Given the description of an element on the screen output the (x, y) to click on. 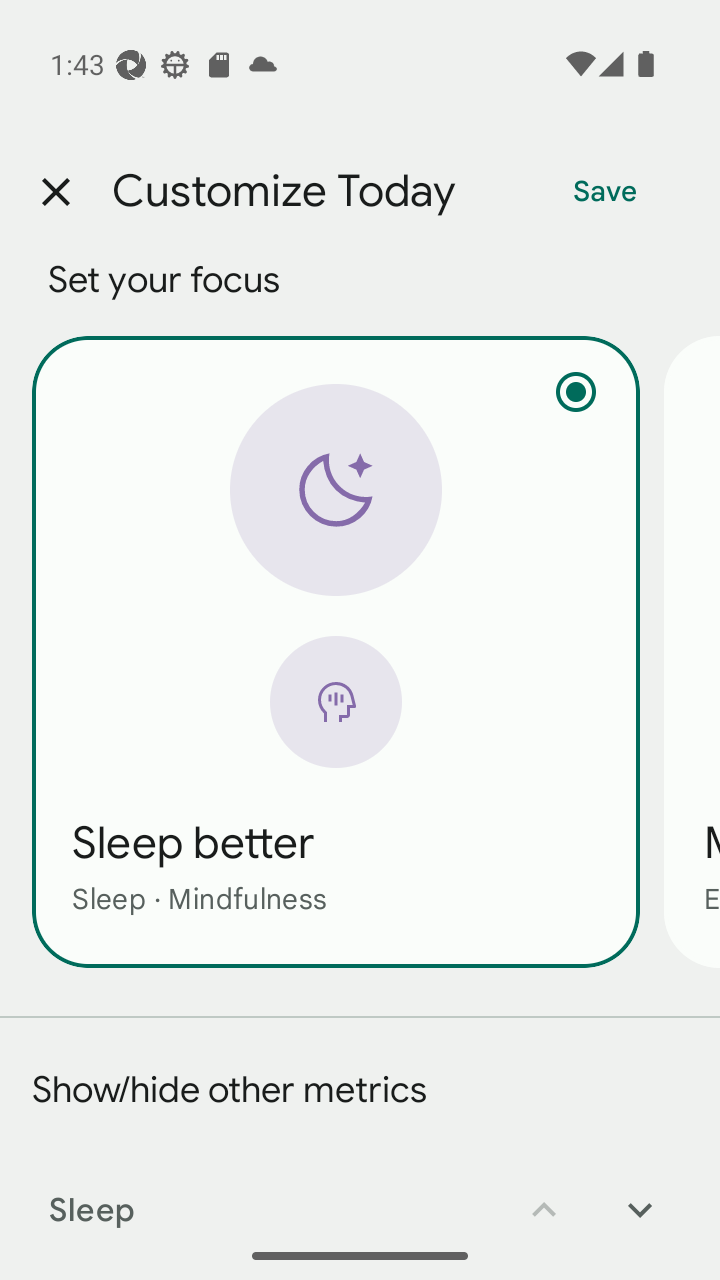
Close (55, 191)
Save (605, 191)
Sleep better Sleep · Mindfulness (335, 651)
Move Sleep up (543, 1196)
Move Sleep down (639, 1196)
